Given the description of an element on the screen output the (x, y) to click on. 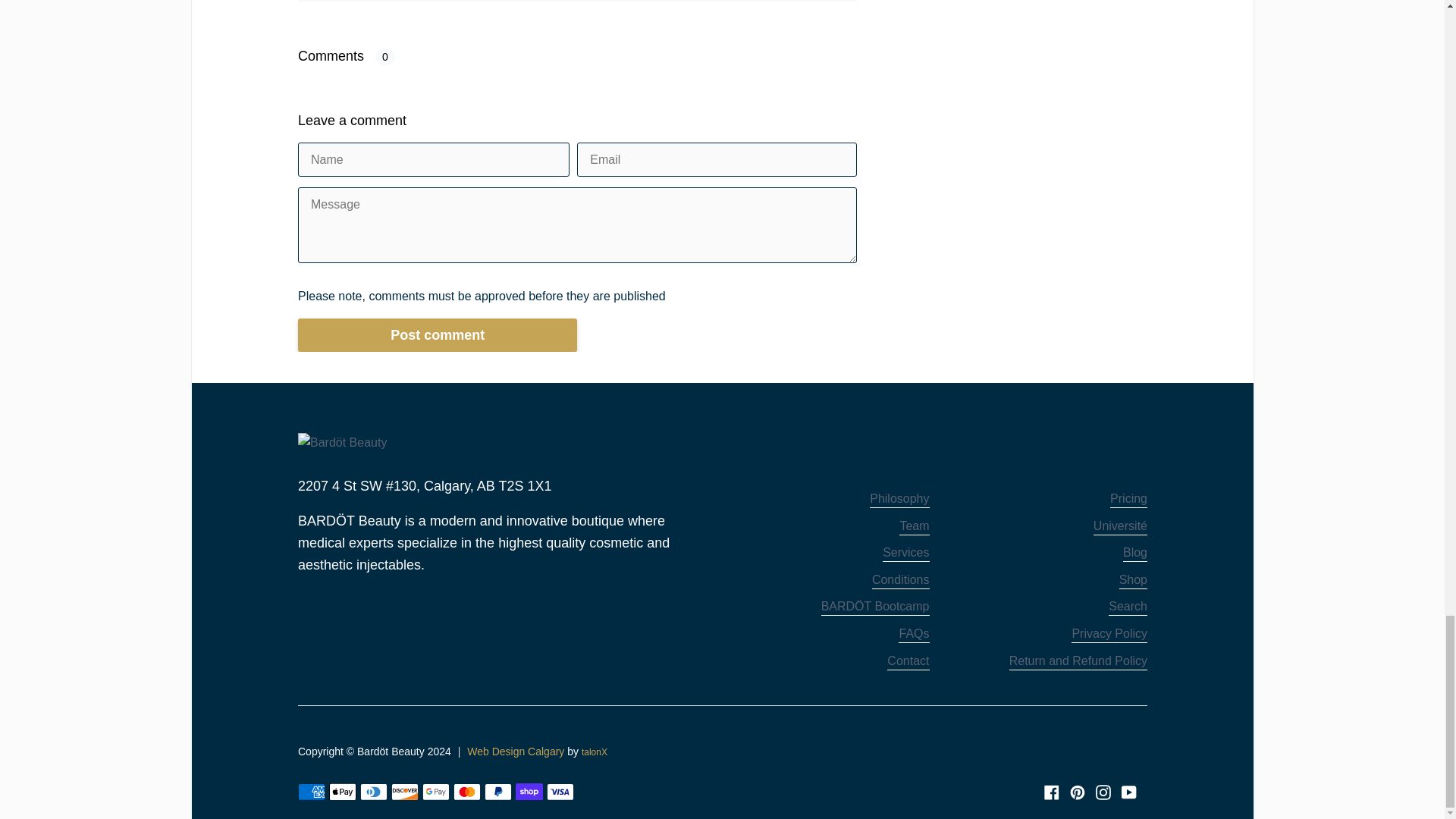
Calgary Website by talonX (600, 751)
Post comment (436, 335)
Web Design Calgary (515, 751)
